Given the description of an element on the screen output the (x, y) to click on. 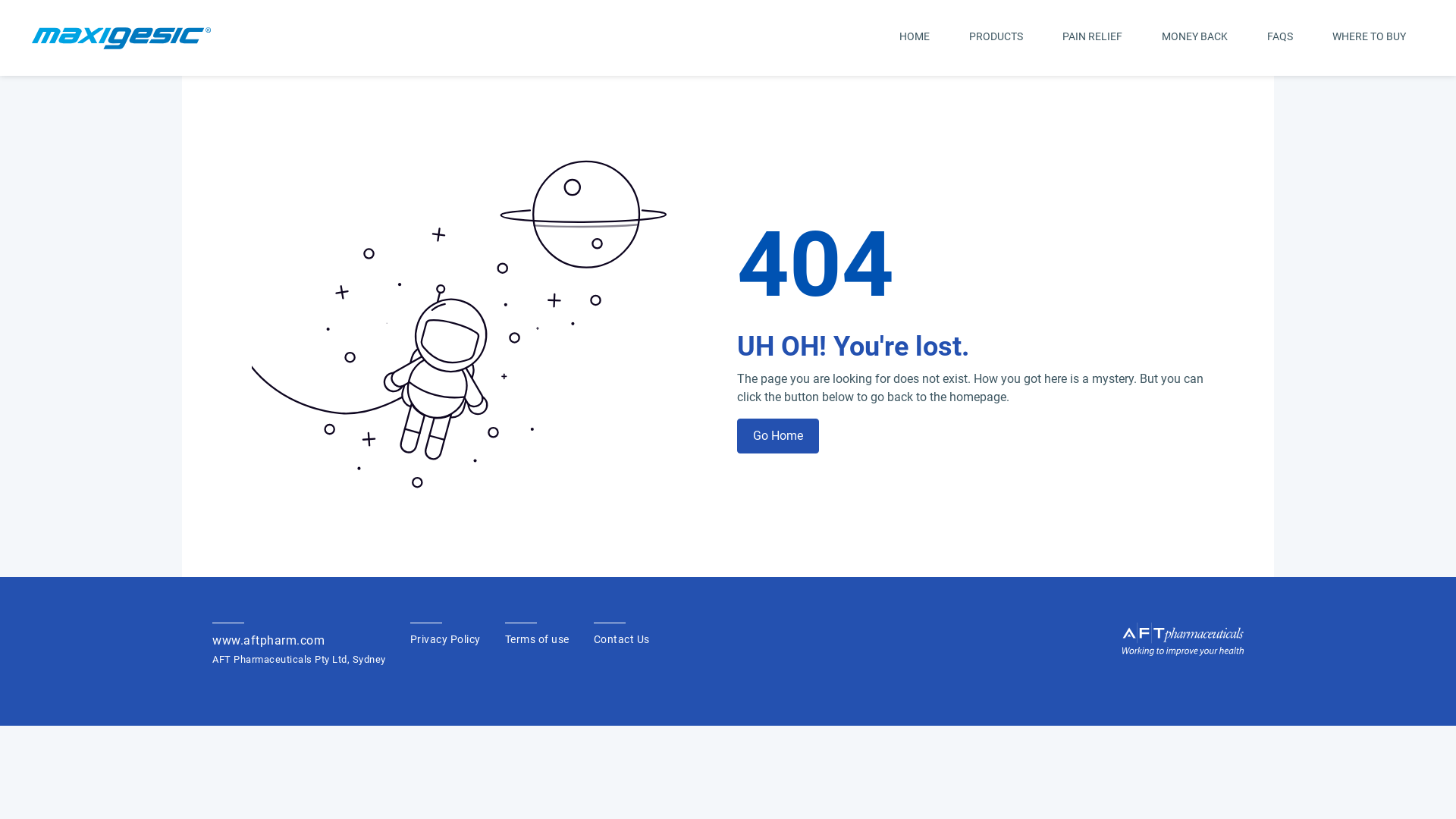
PRODUCTS Element type: text (995, 37)
Terms of use Element type: text (537, 634)
WHERE TO BUY Element type: text (1368, 37)
PAIN RELIEF Element type: text (1092, 37)
www.aftpharm.com
AFT Pharmaceuticals Pty Ltd, Sydney Element type: text (298, 645)
MONEY BACK Element type: text (1194, 37)
Privacy Policy Element type: text (444, 634)
HOME Element type: text (914, 37)
FAQS Element type: text (1279, 37)
Contact Us Element type: text (621, 634)
Go Home Element type: text (778, 435)
